Given the description of an element on the screen output the (x, y) to click on. 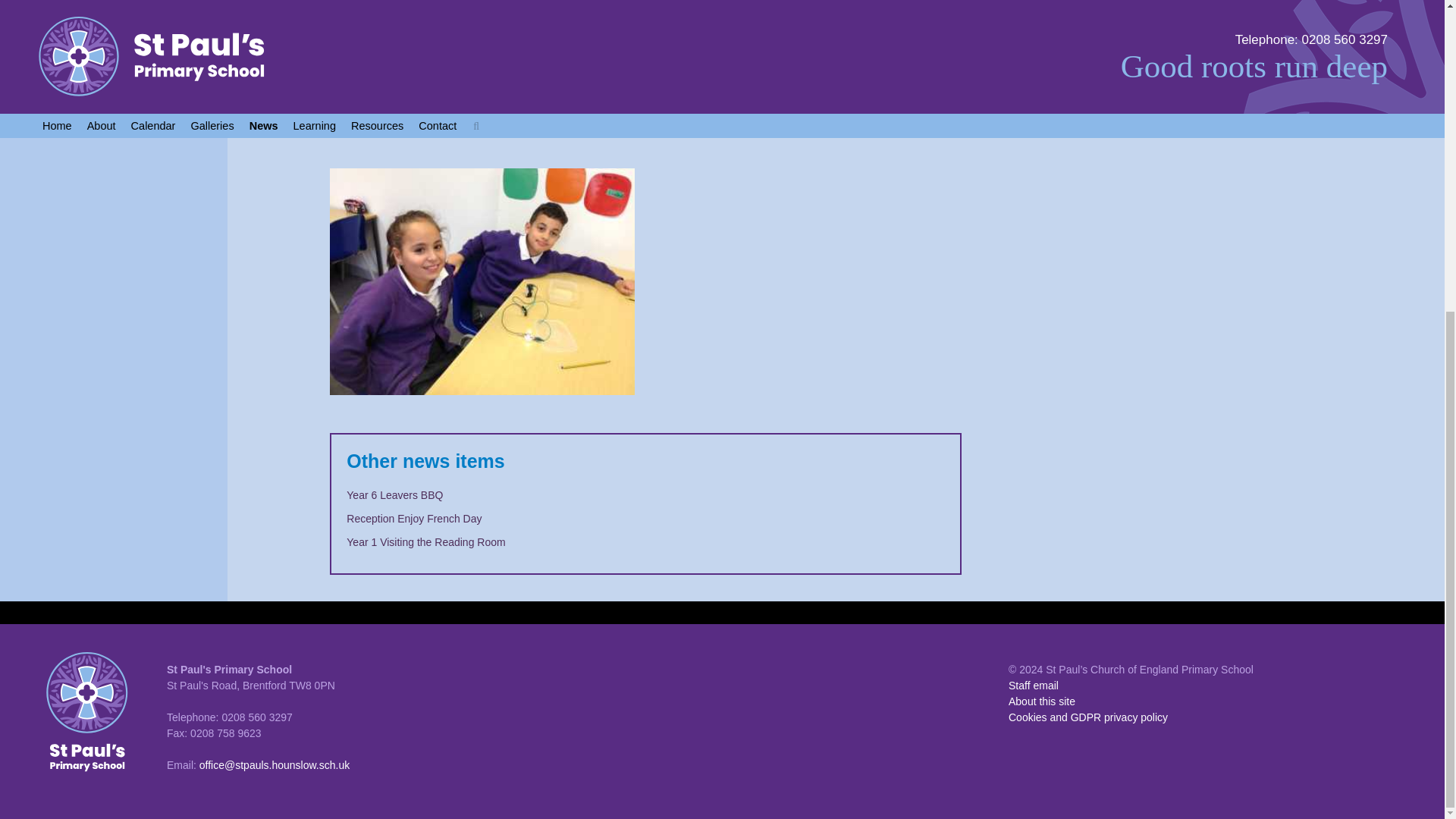
Electrical Circuits in 4L (481, 84)
Electrical Circuits in 4L (809, 84)
Electrical Circuits in 4L (481, 301)
